Given the description of an element on the screen output the (x, y) to click on. 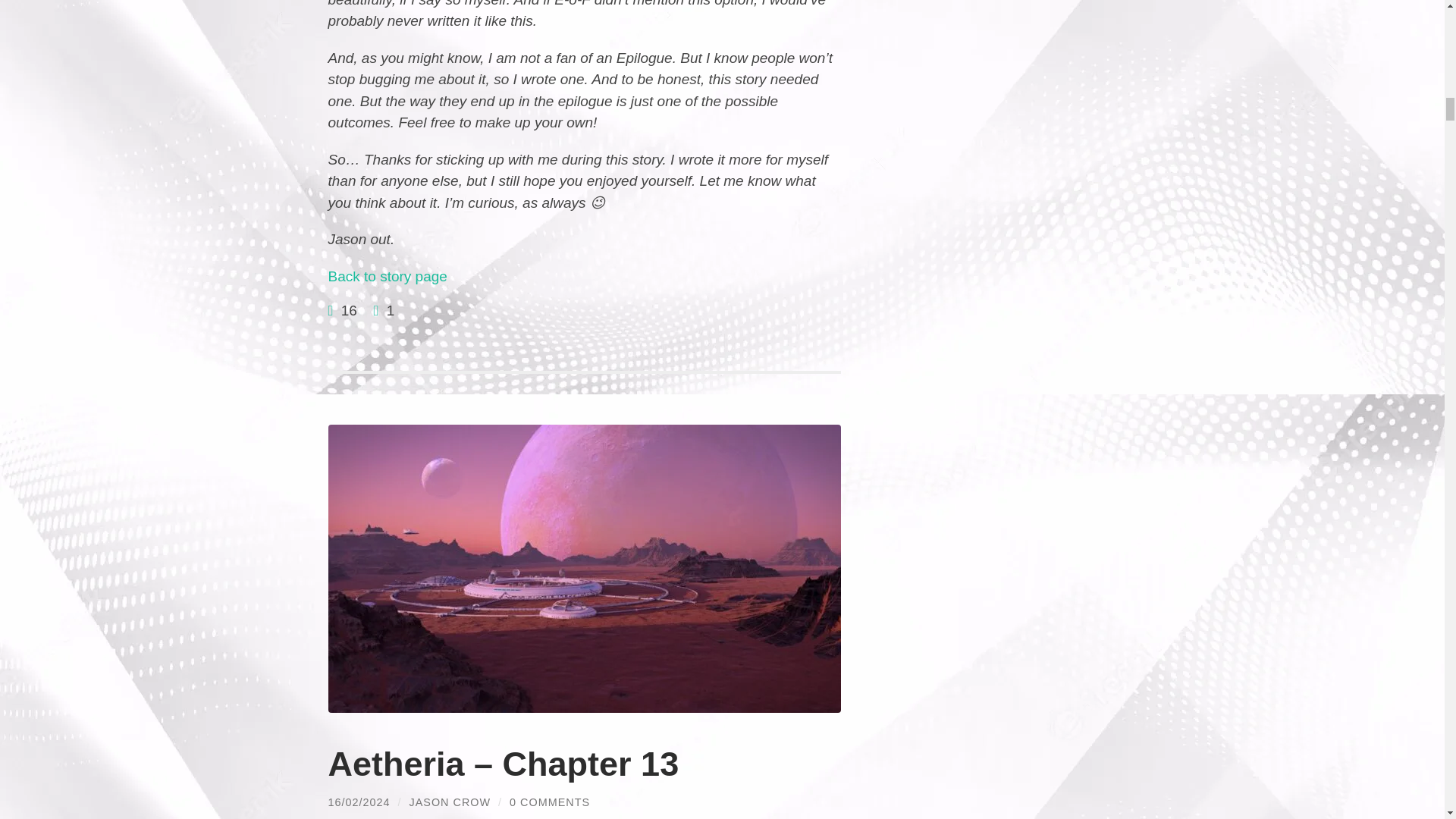
Posts by Jason Crow (450, 802)
Aetheria (386, 276)
